Given the description of an element on the screen output the (x, y) to click on. 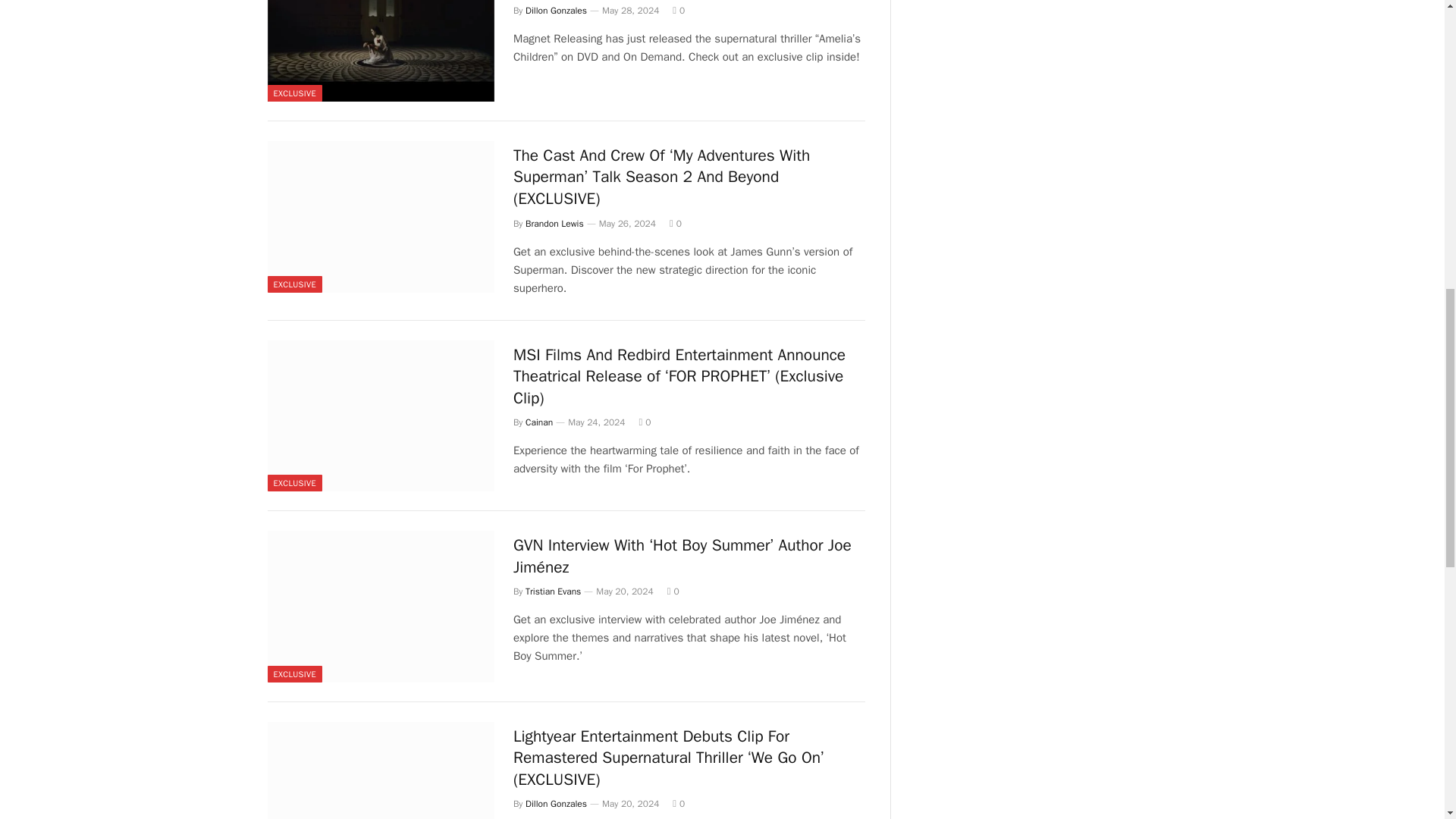
Posts by Dillon Gonzales (555, 10)
Posts by Brandon Lewis (554, 223)
